Given the description of an element on the screen output the (x, y) to click on. 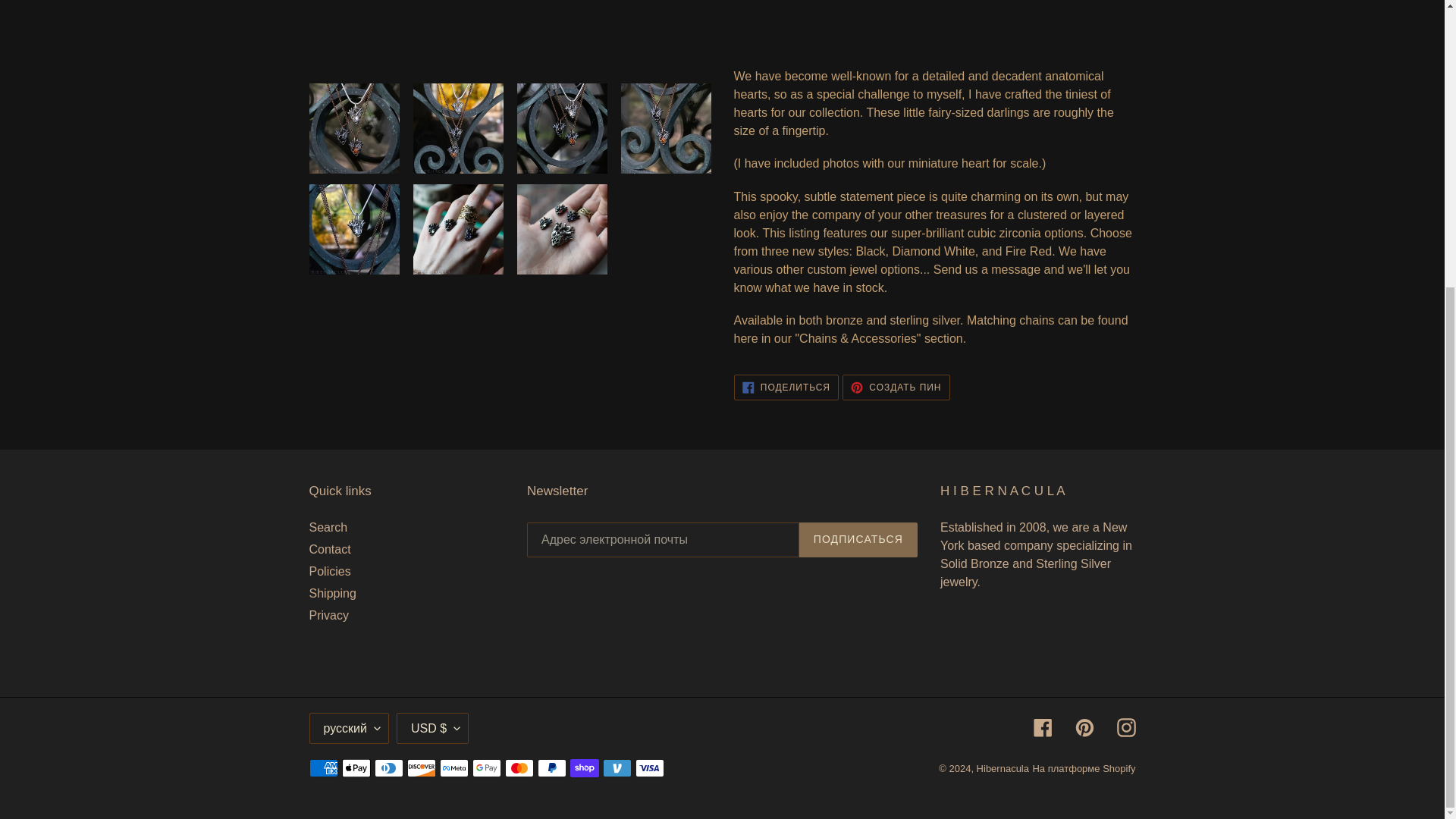
Contact (329, 549)
Search (327, 526)
